Given the description of an element on the screen output the (x, y) to click on. 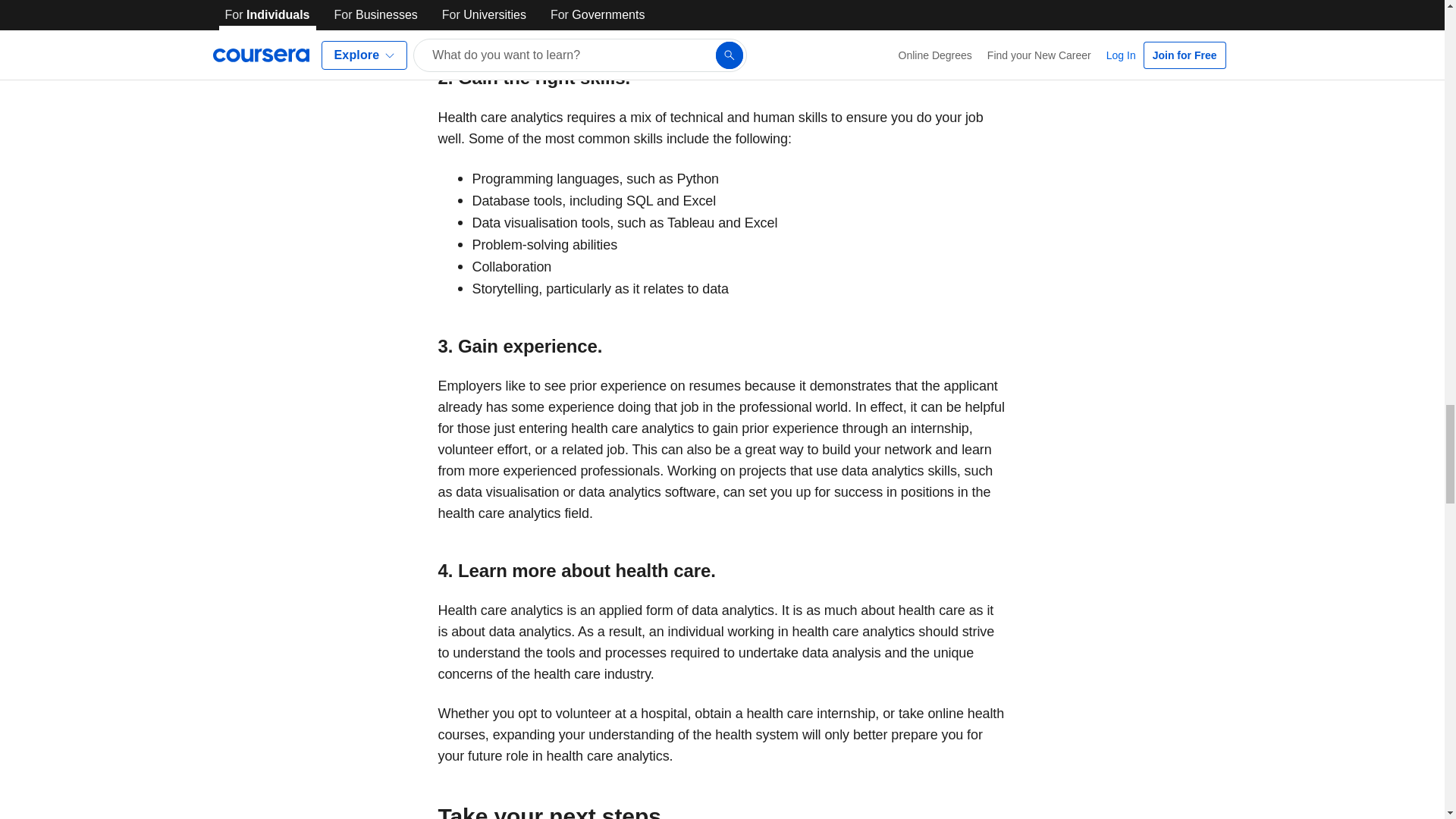
Learn More (528, 3)
